Given the description of an element on the screen output the (x, y) to click on. 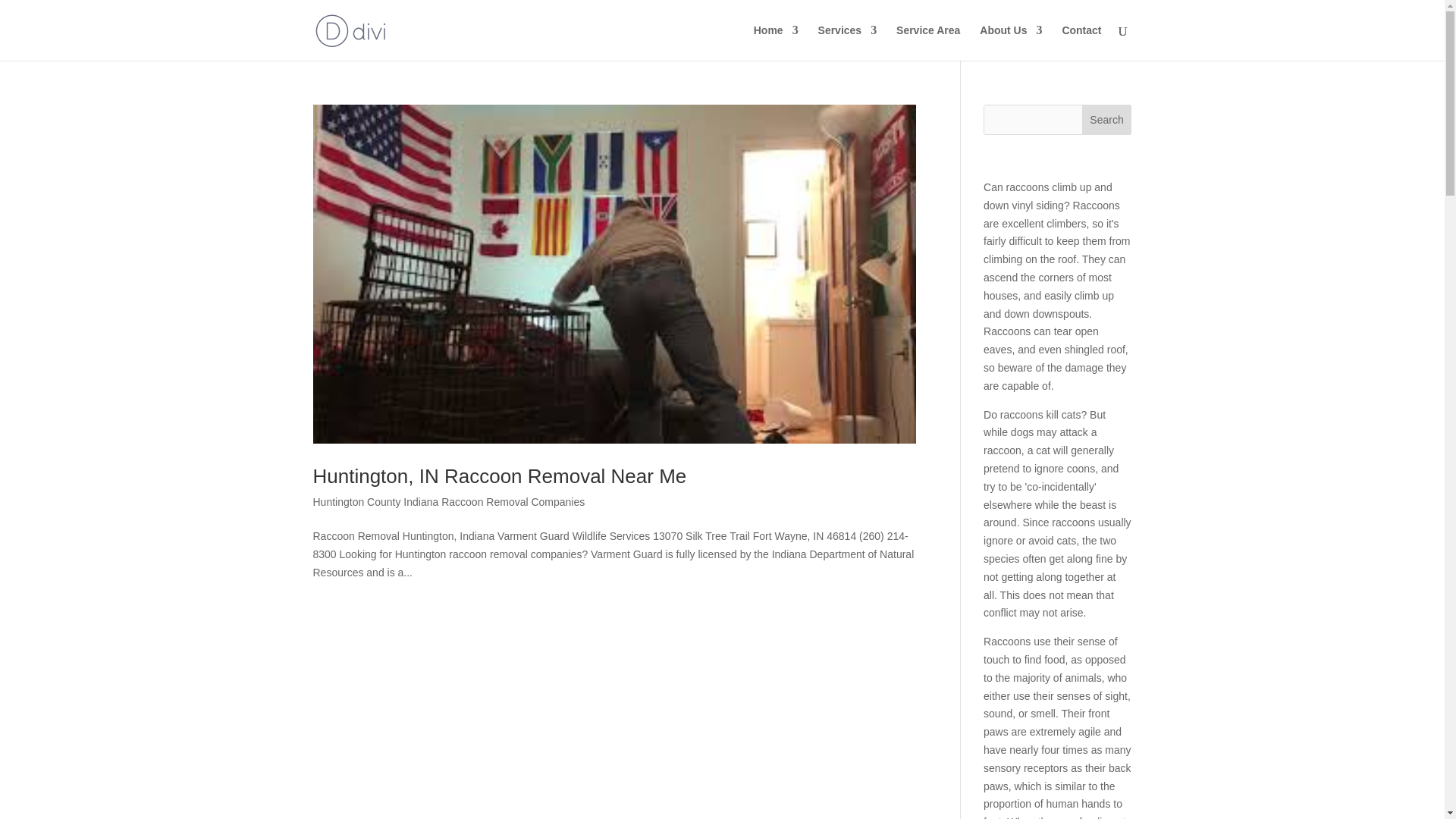
Services (847, 42)
Home (775, 42)
Search (1106, 119)
Service Area (927, 42)
Huntington, IN Raccoon Removal Near Me (499, 476)
Huntington County Indiana Raccoon Removal Companies (449, 501)
Contact (1080, 42)
About Us (1010, 42)
